Given the description of an element on the screen output the (x, y) to click on. 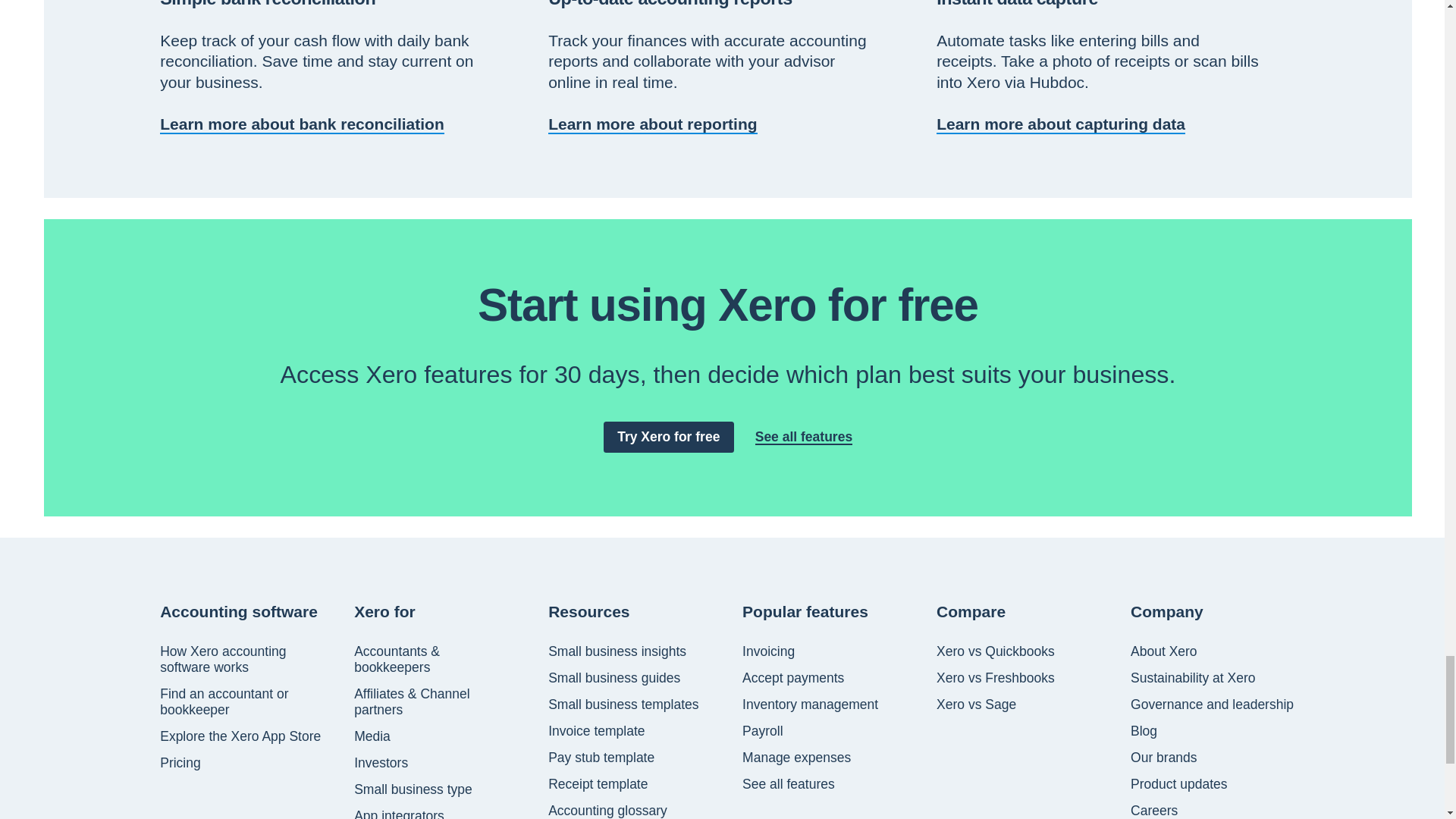
Find an accountant or bookkeeper (242, 702)
See all features (803, 437)
Explore the Xero App Store (240, 736)
Learn more about reporting (652, 123)
Learn more about capturing data (1060, 123)
How Xero accounting software works (242, 659)
Learn more about bank reconciliation (302, 123)
Try Xero for free (668, 436)
